Given the description of an element on the screen output the (x, y) to click on. 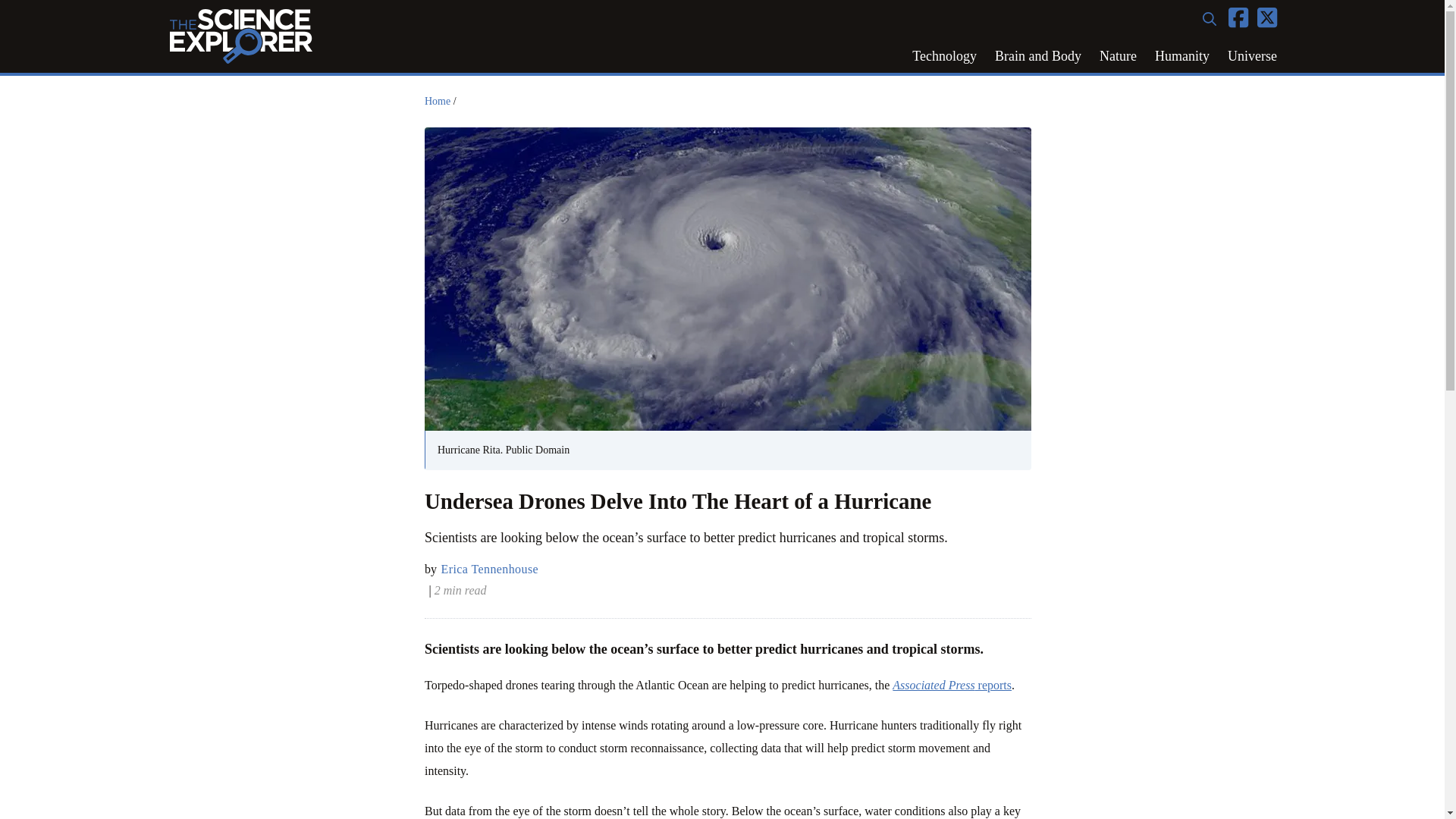
Home (437, 101)
Technology (943, 55)
Universe (1251, 55)
Associated Press reports (951, 684)
SCIENTISTS USE UNDERSEA DRONES TO HELP PREDICT HURRICANES (951, 684)
Nature (1117, 55)
Brain and Body (1037, 55)
Humanity (1181, 55)
